Given the description of an element on the screen output the (x, y) to click on. 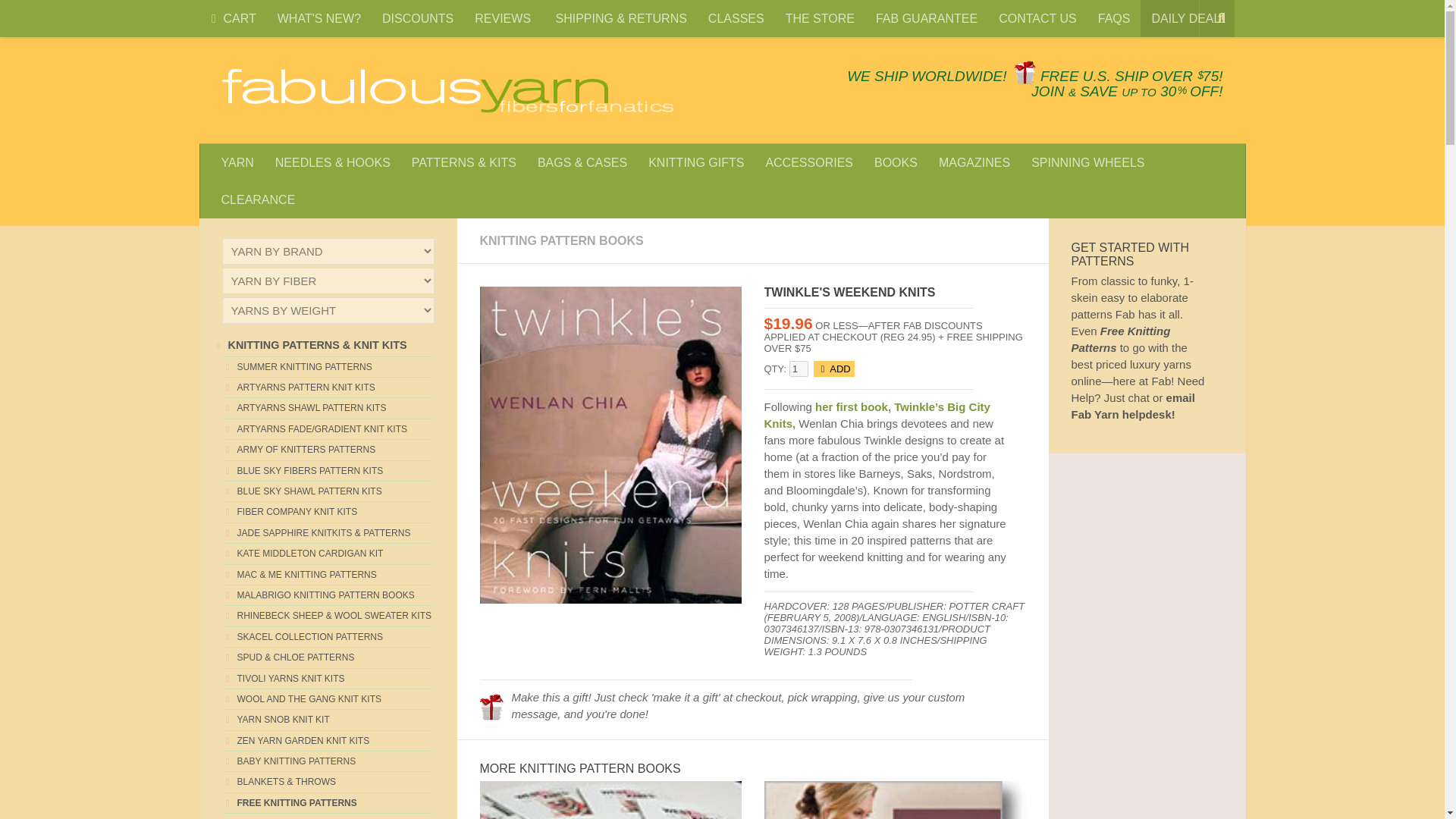
1 (798, 368)
ACCESSORIES (808, 162)
VIEW SHOPPING CART (213, 19)
YARN (237, 162)
SPINNING WHEELS (1087, 162)
BOOKS (895, 162)
REVIEWS (504, 18)
CART (231, 18)
KNITTING PATTERN BOOKS (561, 240)
CONTACT US (1037, 18)
CLASSES (735, 18)
CLEARANCE (258, 199)
WHAT'S NEW? (318, 18)
FAB GUARANTEE (926, 18)
Great Knitter's Gift! (491, 706)
